Given the description of an element on the screen output the (x, y) to click on. 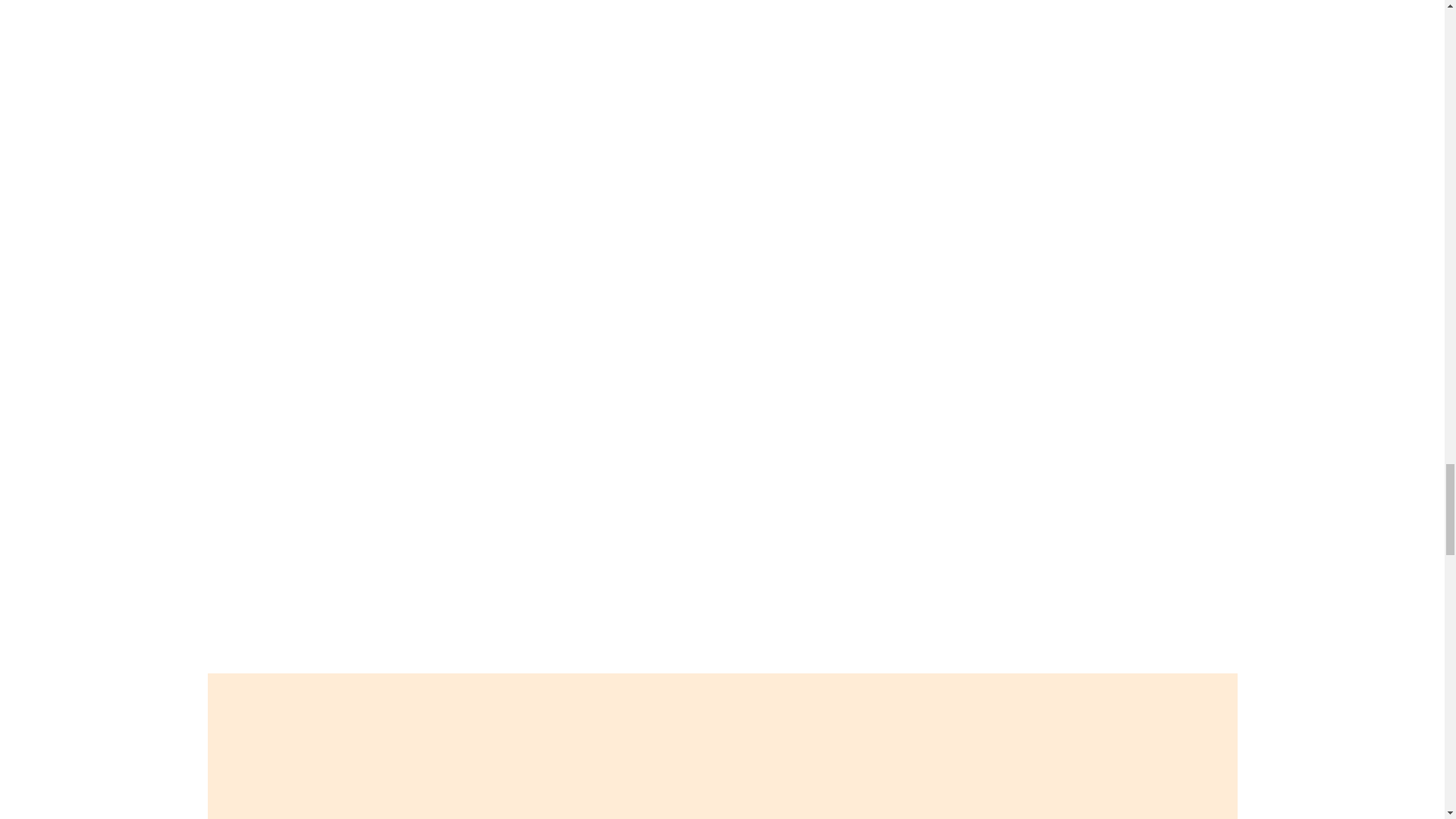
Sign Up (234, 665)
